Given the description of an element on the screen output the (x, y) to click on. 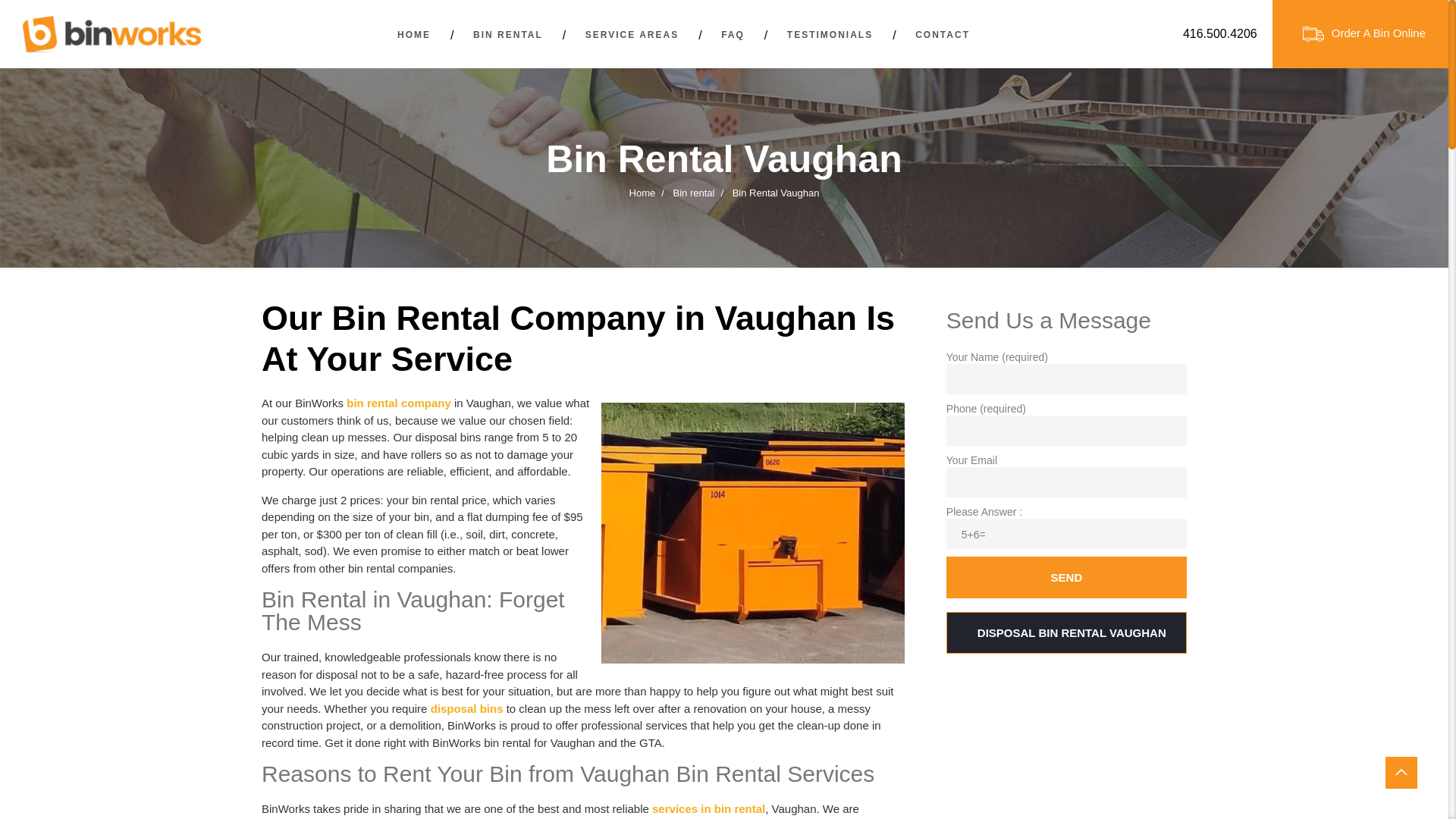
BIN RENTAL Element type: text (507, 34)
disposal bins Element type: text (466, 709)
TESTIMONIALS Element type: text (829, 34)
services in bin rental Element type: text (708, 809)
Bin Rental Vaughan Element type: hover (752, 532)
Bin rental Element type: text (694, 192)
Order A Bin Online Element type: text (1360, 34)
SEND Element type: text (1066, 577)
bin rental company Element type: text (398, 403)
HOME Element type: text (413, 34)
Home Element type: text (642, 192)
SERVICE AREAS Element type: text (631, 34)
CONTACT Element type: text (942, 34)
FAQ Element type: text (732, 34)
DISPOSAL BIN RENTAL VAUGHAN Element type: text (1066, 632)
416.500.4206 Element type: text (1220, 33)
